Given the description of an element on the screen output the (x, y) to click on. 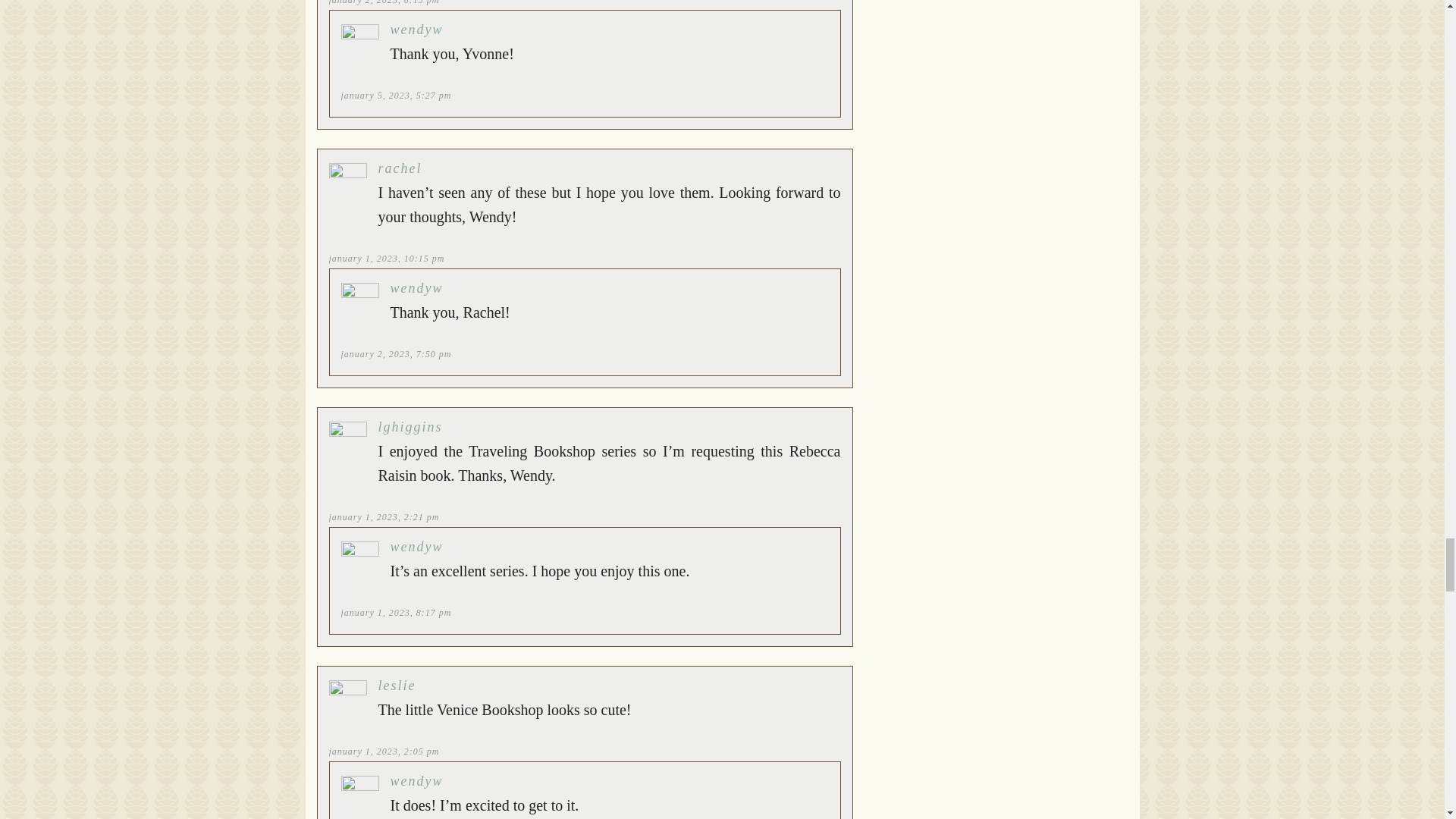
lghiggins (409, 426)
january 1, 2023, 10:15 pm (387, 258)
january 5, 2023, 5:27 pm (395, 95)
january 2, 2023, 7:50 pm (395, 353)
rachel (399, 168)
january 1, 2023, 2:21 pm (384, 516)
wendyw (416, 287)
january 2, 2023, 6:13 pm (384, 2)
wendyw (416, 29)
